Given the description of an element on the screen output the (x, y) to click on. 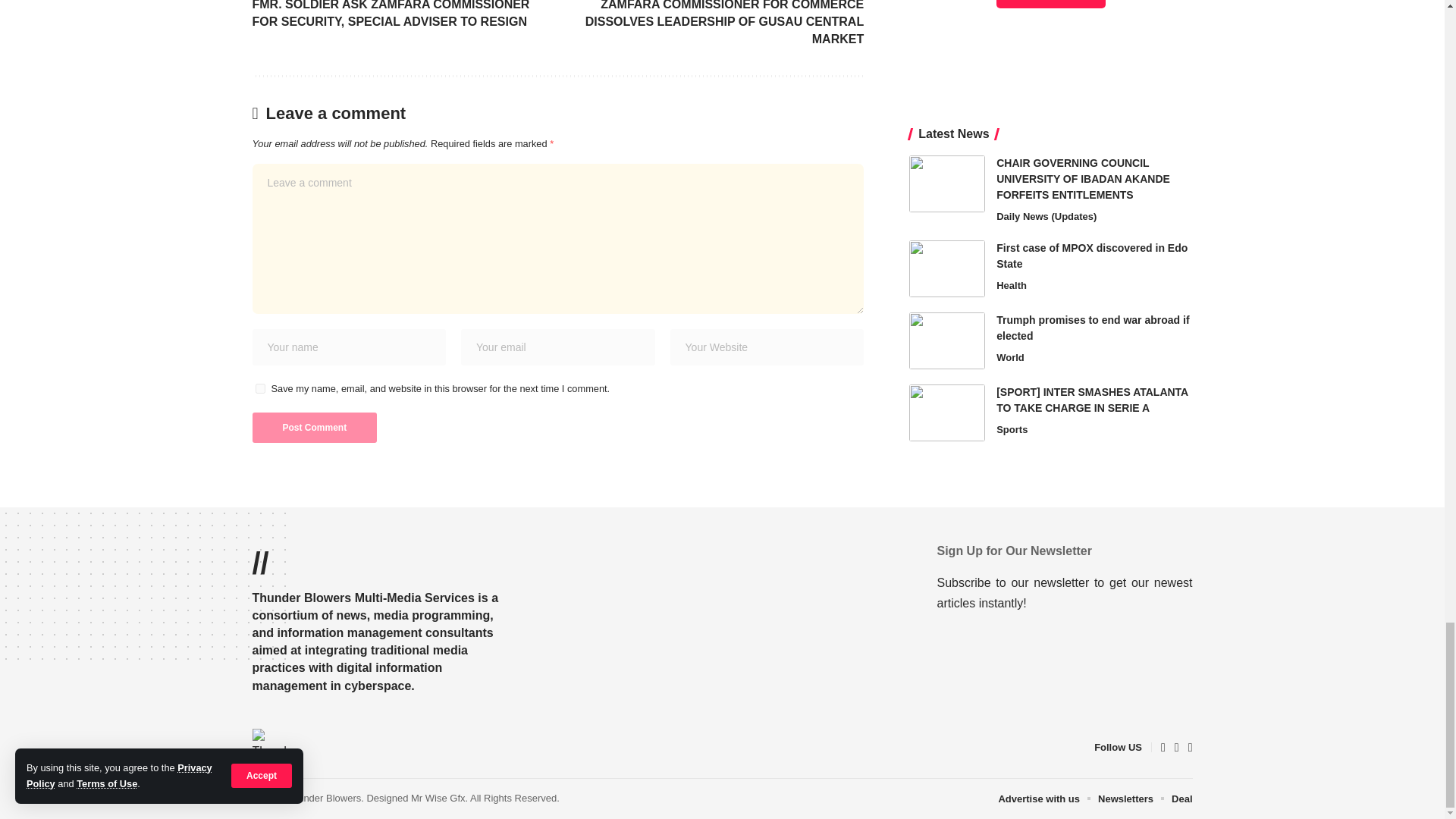
Post Comment (314, 427)
Thunder Blowers (270, 747)
yes (259, 388)
